Given the description of an element on the screen output the (x, y) to click on. 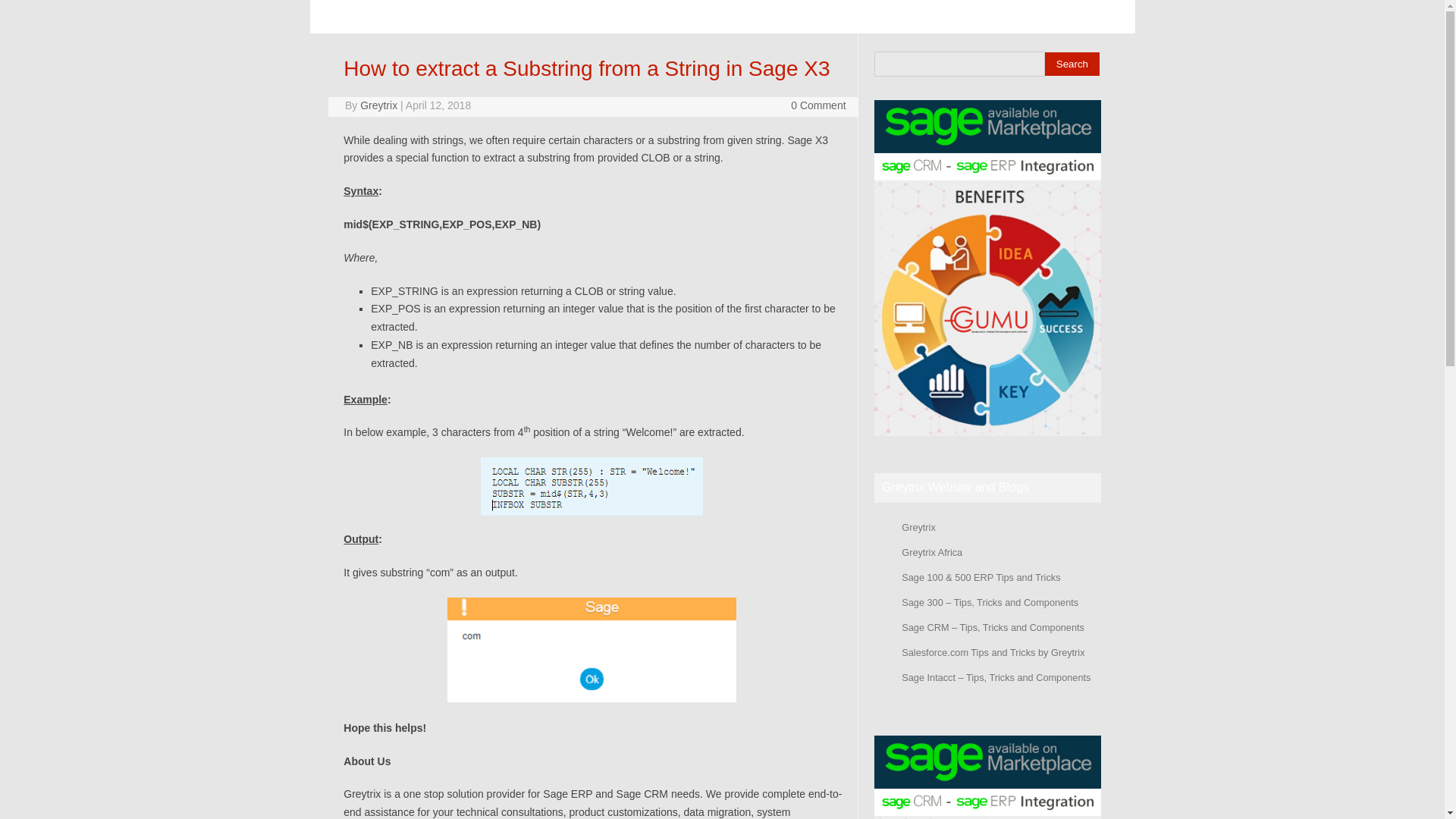
Greytrix (378, 105)
Posts by Greytrix (378, 105)
Search (1072, 64)
Search (1072, 64)
Salesforce.com Tips and Tricks by Greytrix (992, 652)
Greytrix (918, 527)
Greytrix (918, 527)
0 Comment (817, 105)
Greytrix Salesforce.com Blog (992, 652)
Greytrix Africa (931, 552)
